Given the description of an element on the screen output the (x, y) to click on. 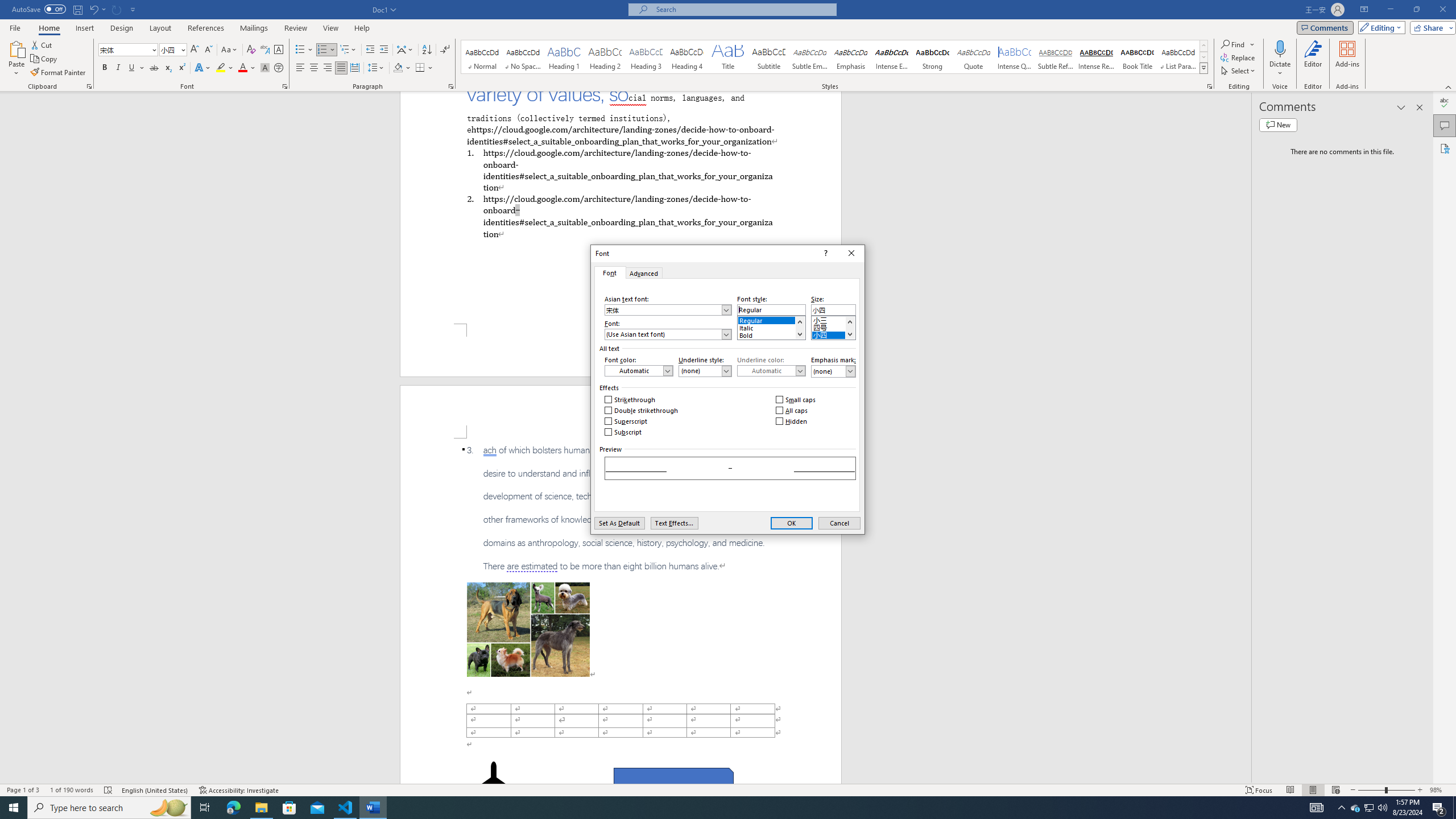
Help (361, 28)
Underline (131, 67)
Regular (771, 318)
Paragraph... (450, 85)
File Explorer - 1 running window (261, 807)
Dictate (1280, 48)
Numbering (322, 49)
Restore Down (1416, 9)
AutomationID: QuickStylesGallery (834, 56)
References (205, 28)
Can't Repeat (117, 9)
Editor (1444, 102)
Superscript (180, 67)
Font... (285, 85)
